Given the description of an element on the screen output the (x, y) to click on. 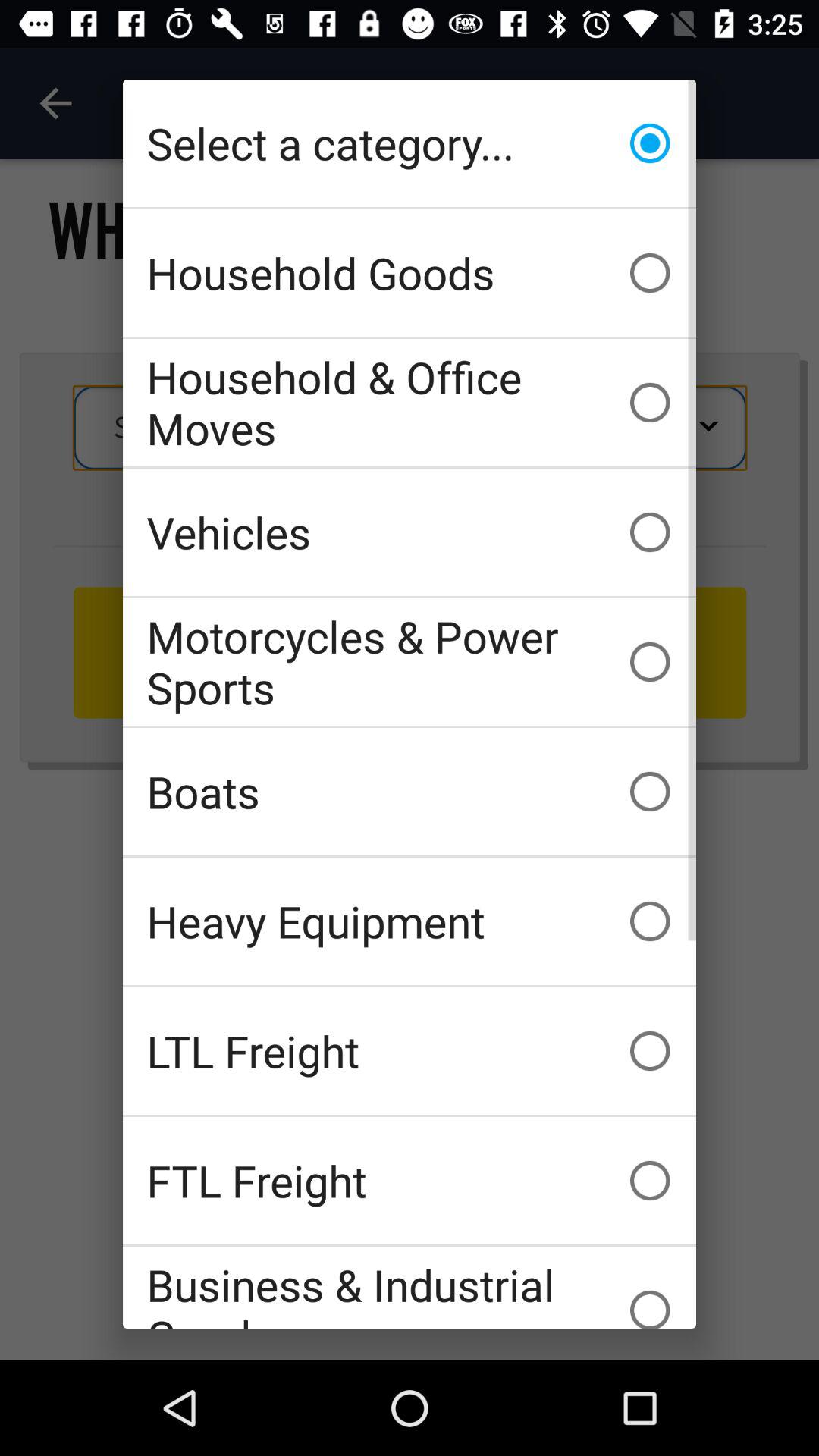
swipe to the heavy equipment icon (409, 921)
